Given the description of an element on the screen output the (x, y) to click on. 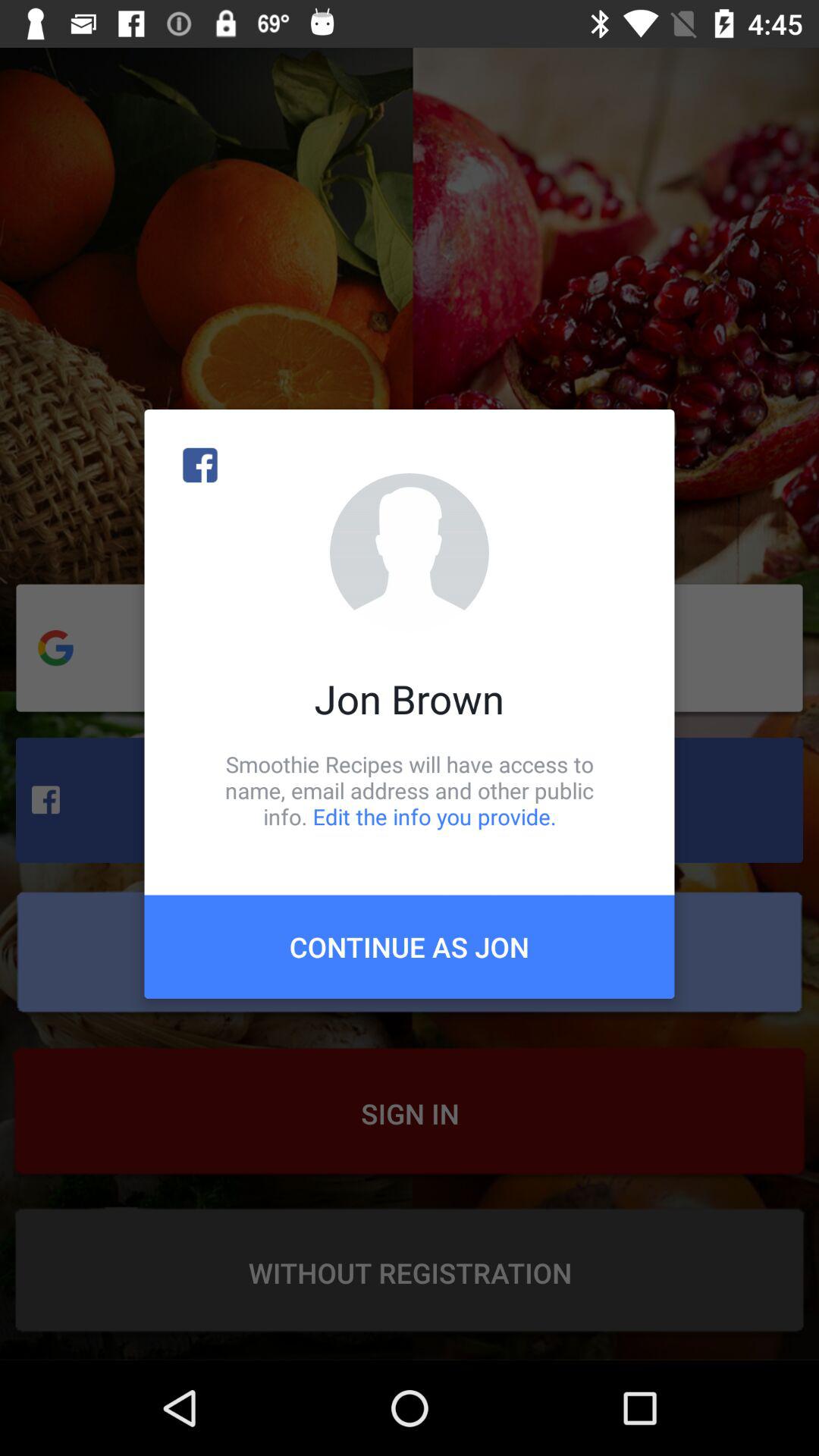
press the continue as jon icon (409, 946)
